Given the description of an element on the screen output the (x, y) to click on. 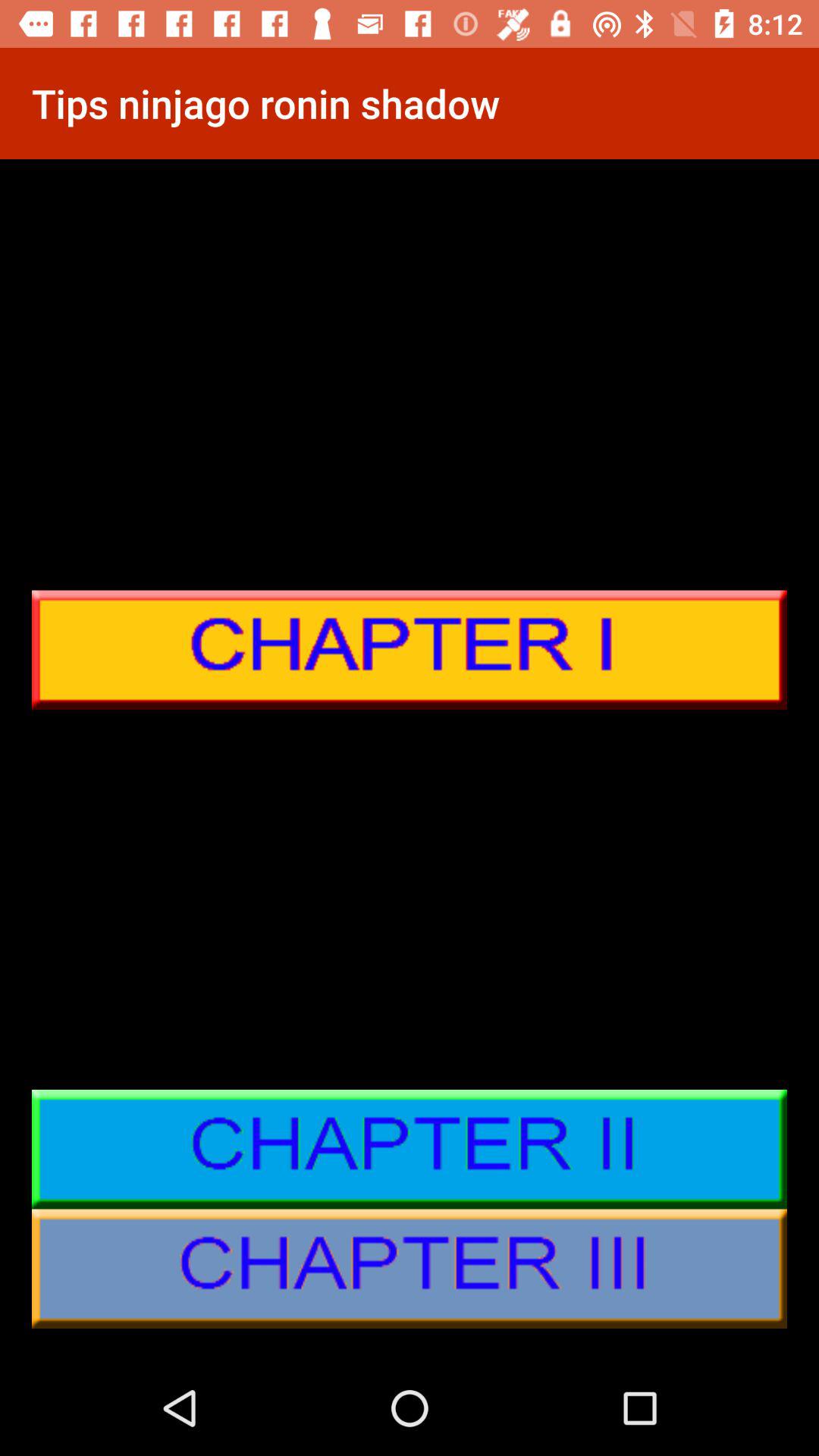
chapter iii details (409, 1268)
